Given the description of an element on the screen output the (x, y) to click on. 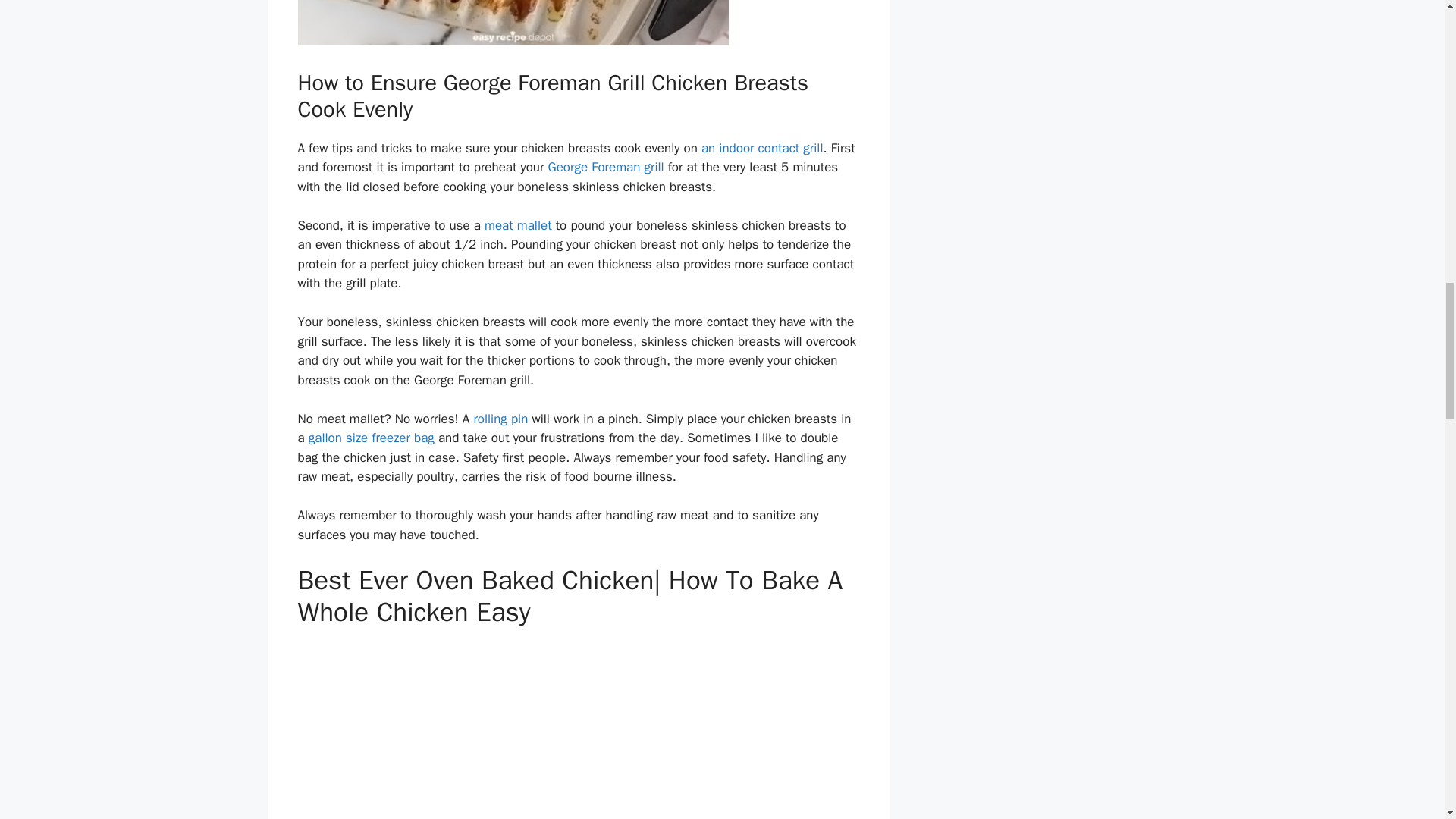
Rolling Pin and Mat Set (500, 418)
an indoor contact grill (762, 148)
George Foreman grill (605, 166)
George Foreman 4-Serving Removable Plate Grill (605, 166)
meat mallet (517, 225)
Meat Tenderizer, Meat Mallet (517, 225)
Hamilton Beach Electric Indoor Searing Grill (762, 148)
rolling pin (500, 418)
Ziploc Variety Resealable Bags (370, 437)
gallon size freezer bag (370, 437)
